Given the description of an element on the screen output the (x, y) to click on. 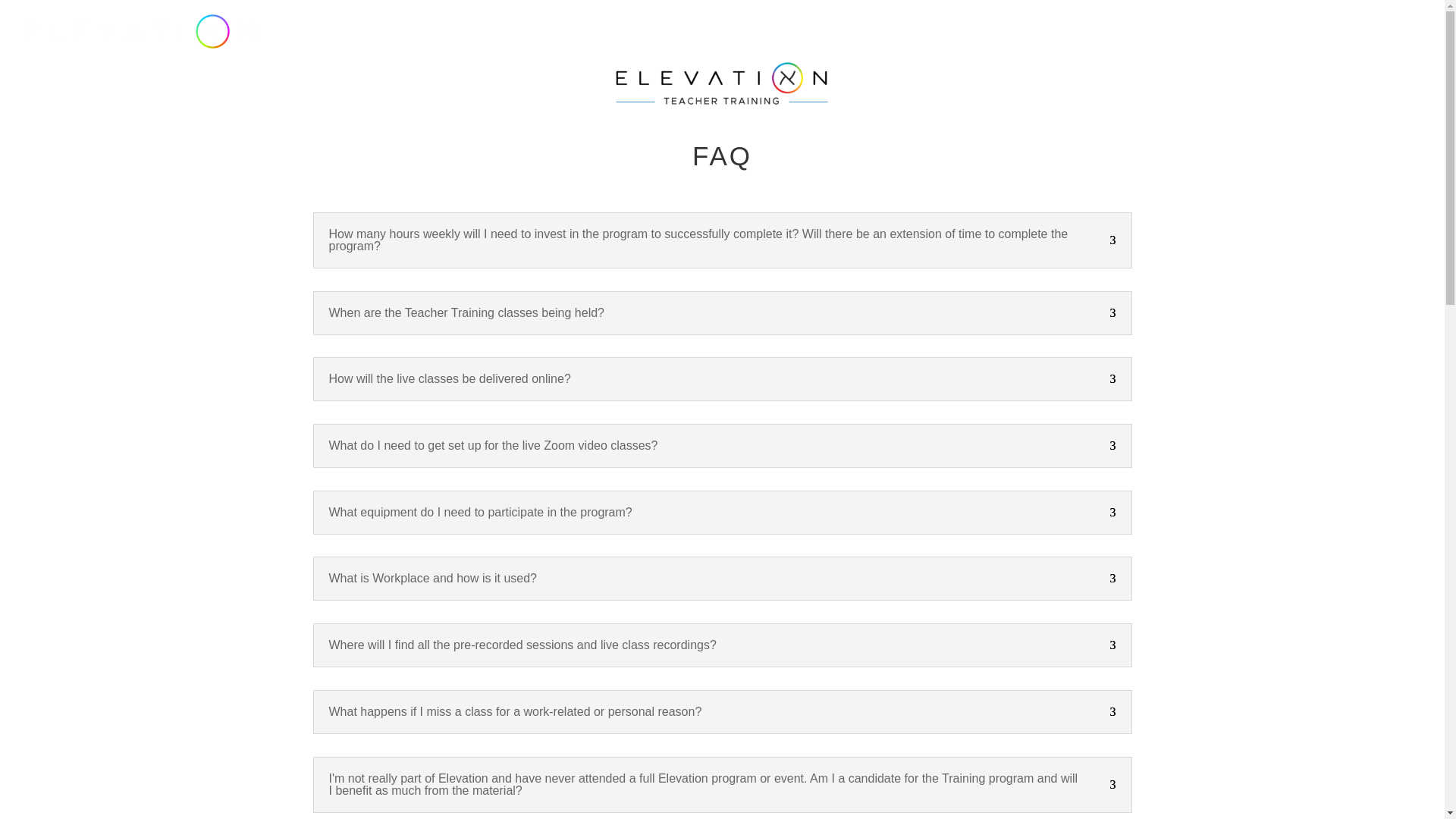
DONATE (1246, 44)
LEARN ONLINE (892, 44)
Elevation Teacher Training (721, 87)
LOGIN (1395, 44)
EVENTS (1184, 44)
ABOUT (799, 44)
TEACHER TRAINING (1088, 44)
CONTACT (1320, 44)
MASTERY (987, 44)
